Given the description of an element on the screen output the (x, y) to click on. 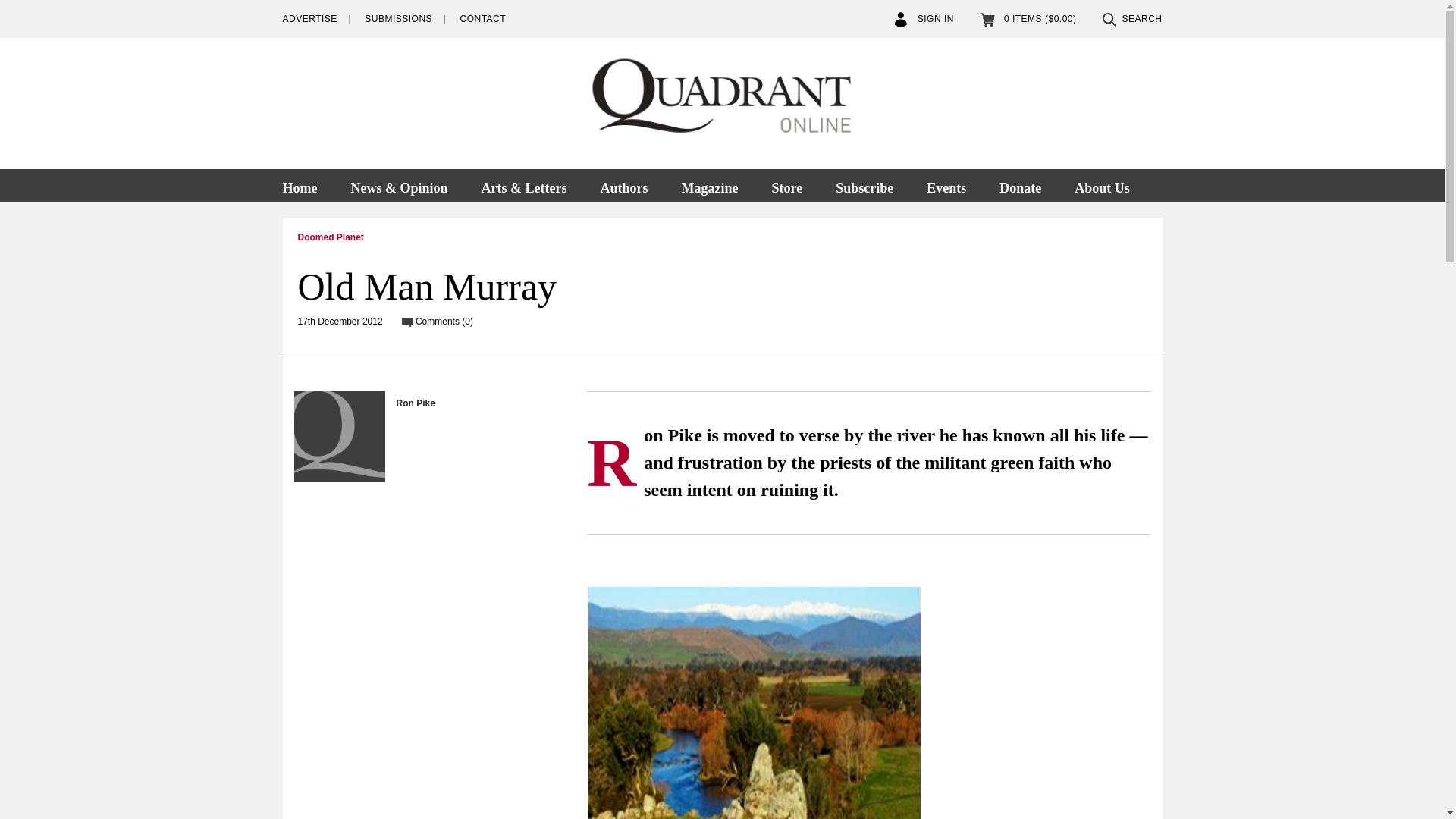
Store (785, 185)
Events (946, 185)
Subscribe (864, 185)
Donate (1020, 185)
SUBMISSIONS (398, 18)
Home (306, 185)
Authors (623, 185)
SEARCH (1131, 18)
Magazine (708, 185)
ADVERTISE (309, 18)
SIGN IN (923, 18)
About Us (1101, 185)
CONTACT (482, 18)
